Given the description of an element on the screen output the (x, y) to click on. 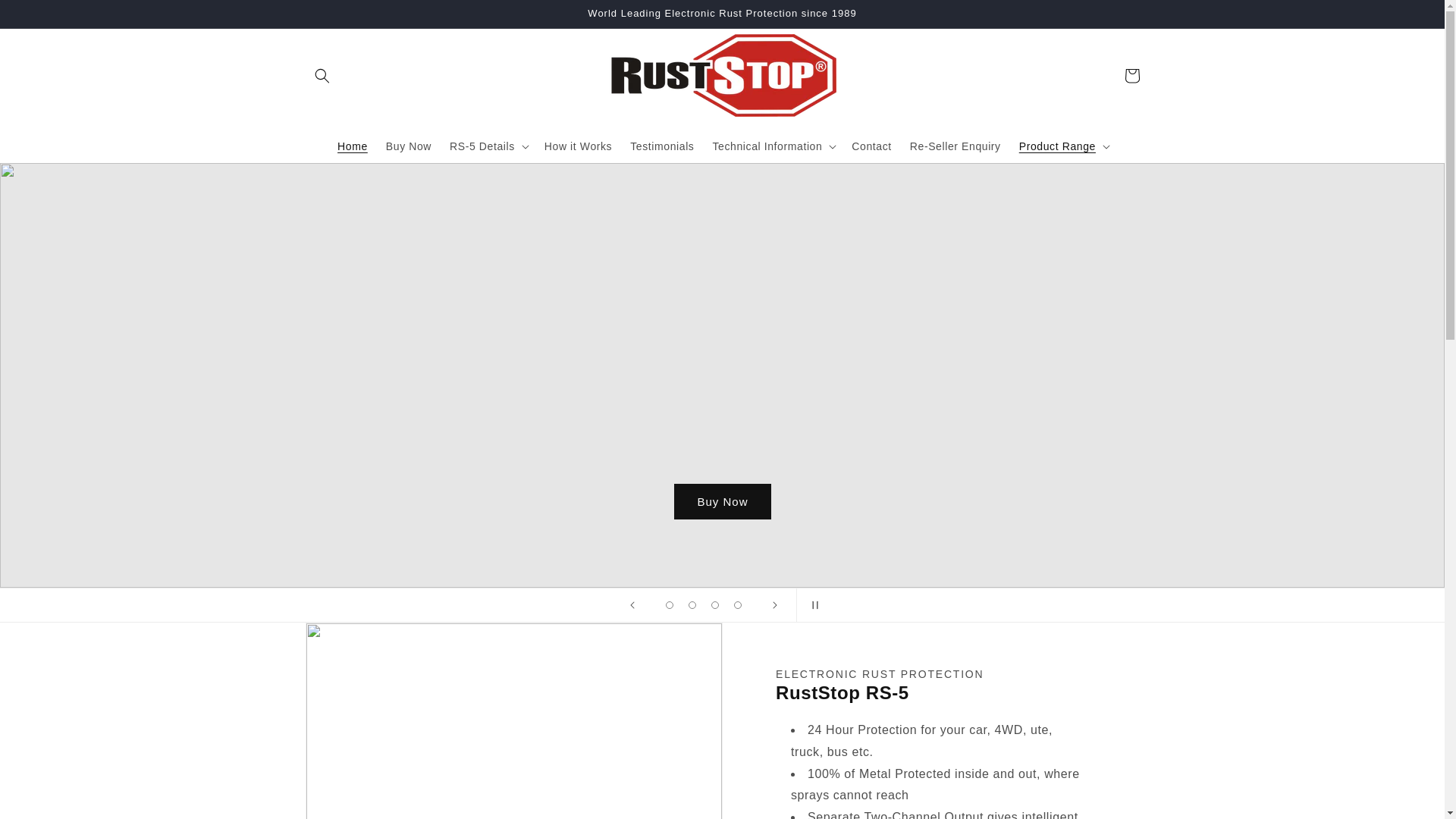
Contact (871, 146)
Home (353, 146)
Re-Seller Enquiry (955, 146)
How it Works (578, 146)
Skip to content (45, 17)
Testimonials (662, 146)
Buy Now (409, 146)
